Given the description of an element on the screen output the (x, y) to click on. 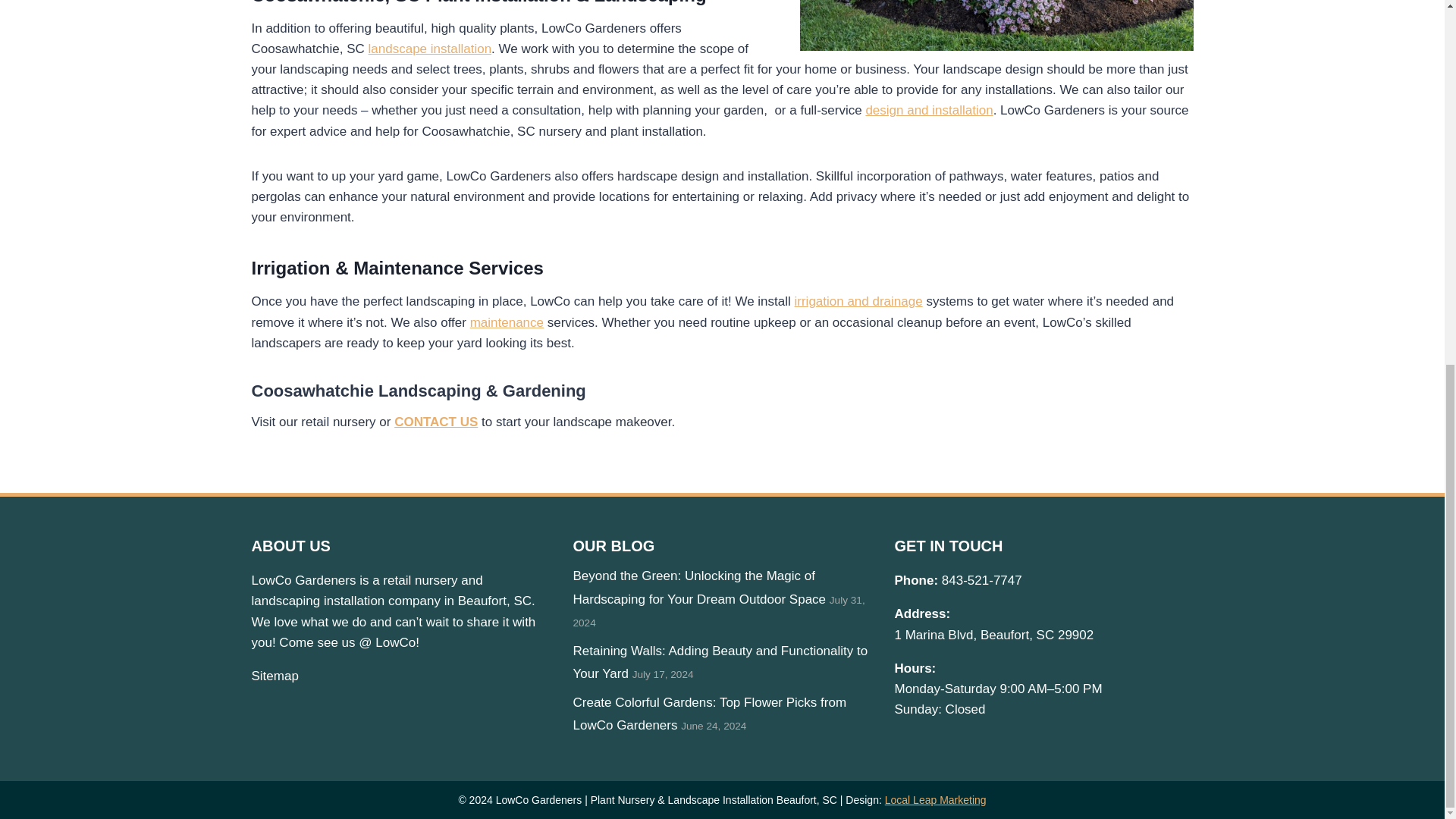
CONTACT US (435, 421)
Local Leap Marketing (936, 799)
irrigation and drainage (858, 301)
Sitemap (274, 676)
design and installation (928, 110)
landscape installation (430, 48)
843-521-7747 (982, 580)
Coosawhatchie, SC Landscape Installation (995, 25)
